Given the description of an element on the screen output the (x, y) to click on. 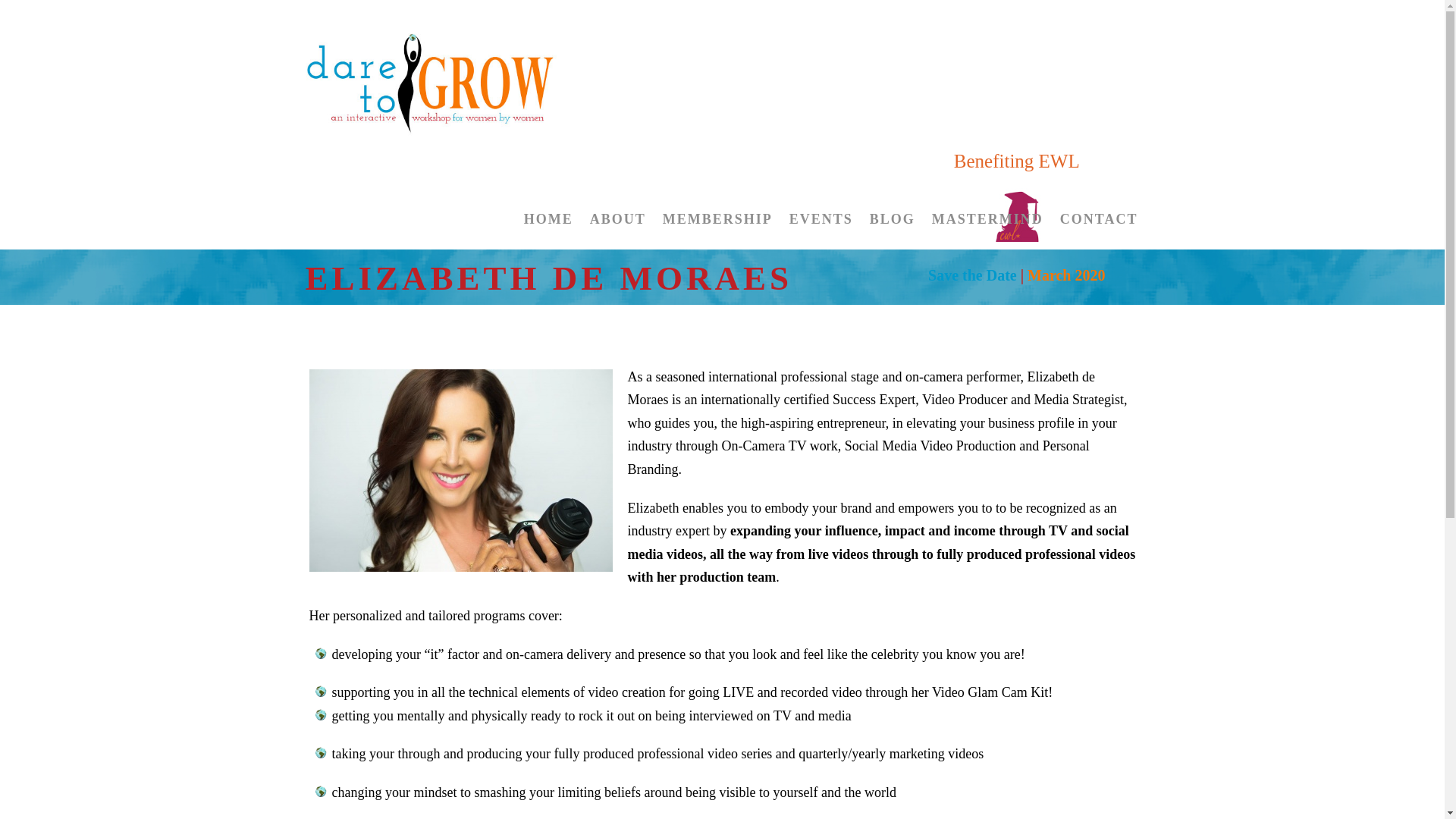
EVENTS (821, 234)
MASTERMIND (987, 234)
MEMBERSHIP (717, 234)
CONTACT (1098, 234)
HOME (548, 234)
ABOUT (617, 234)
Benefiting EWL (1016, 185)
